Given the description of an element on the screen output the (x, y) to click on. 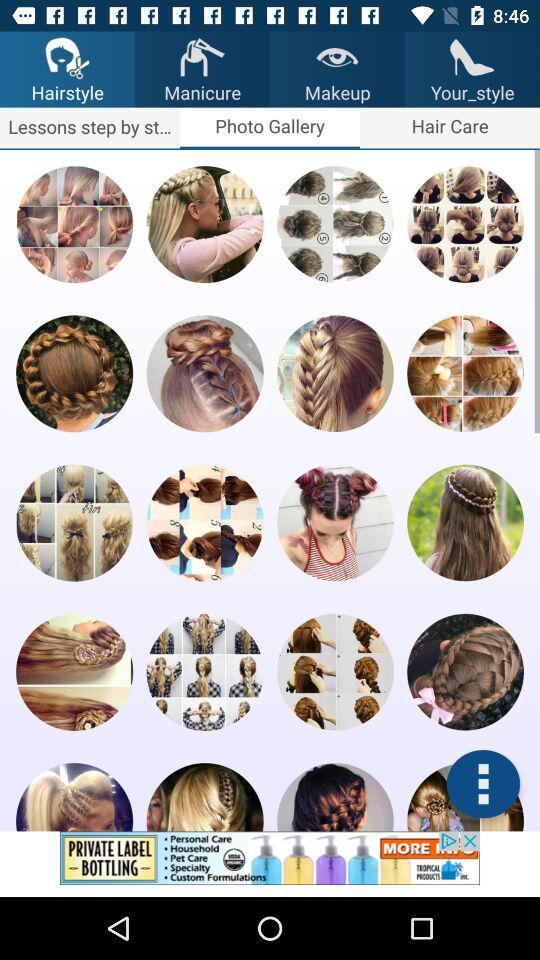
hair image (465, 373)
